Given the description of an element on the screen output the (x, y) to click on. 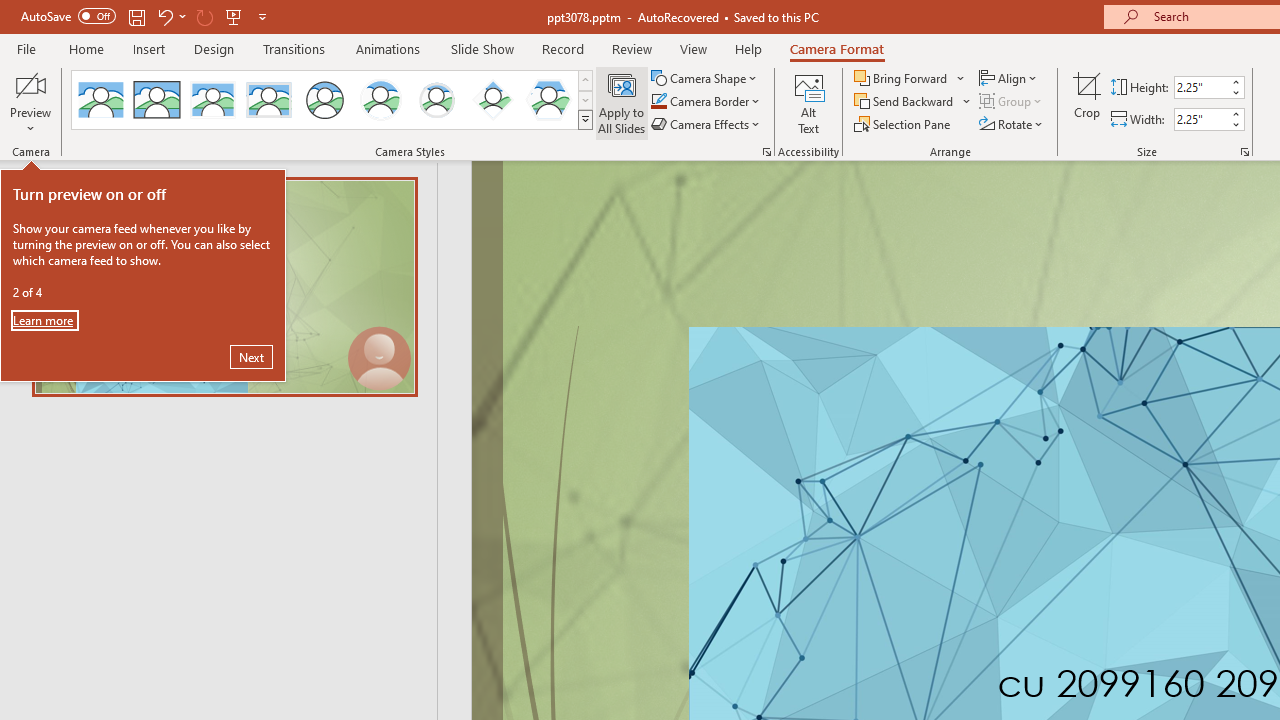
Center Shadow Circle (381, 100)
Send Backward (913, 101)
Next (251, 356)
Learn more (44, 320)
Camera Border Green, Accent 1 (658, 101)
Camera Format (836, 48)
Cameo Width (1201, 119)
Camera Shape (705, 78)
Selection Pane... (904, 124)
Soft Edge Rectangle (268, 100)
Camera Effects (706, 124)
